Given the description of an element on the screen output the (x, y) to click on. 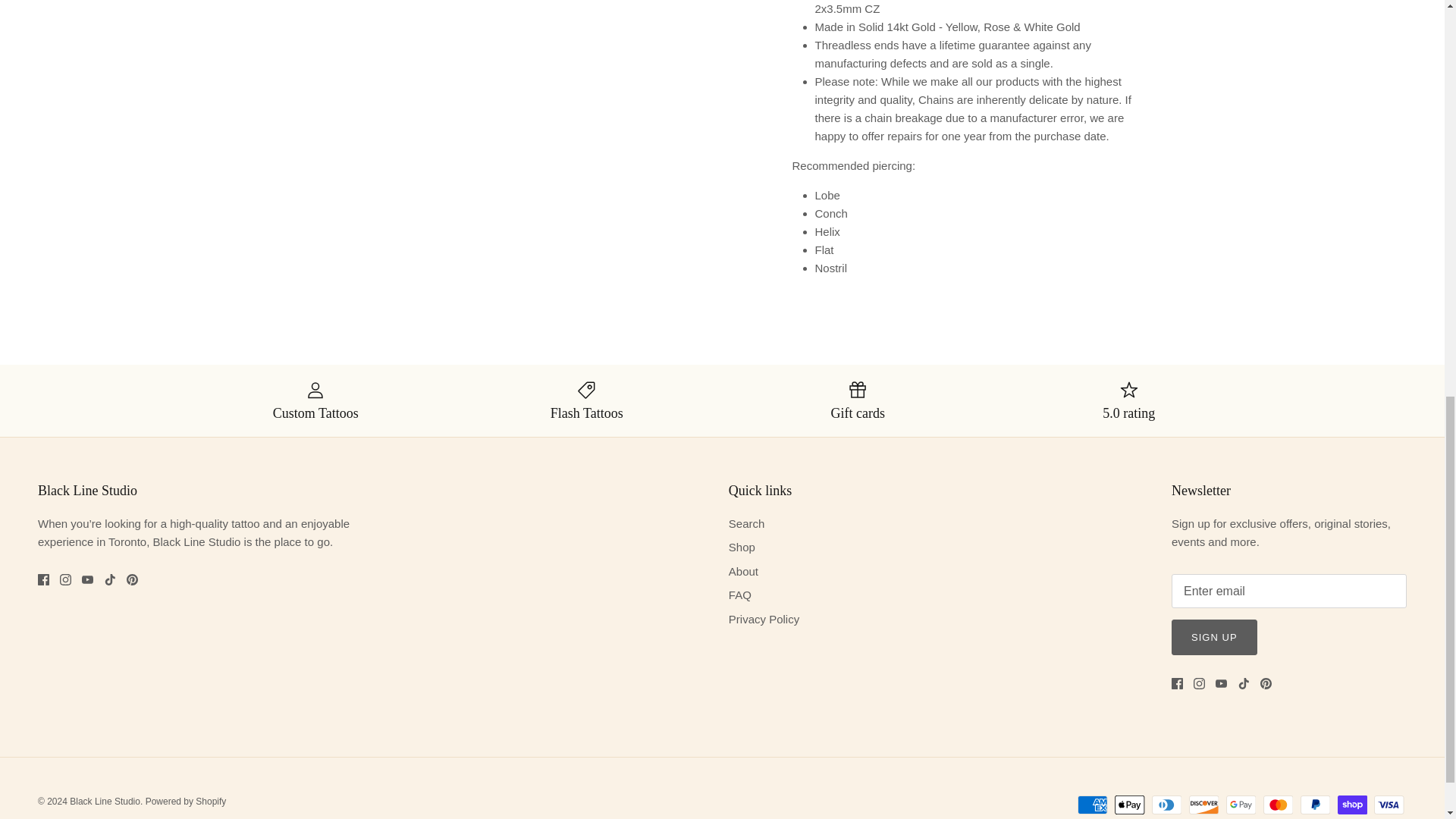
Facebook (43, 579)
Youtube (87, 579)
Facebook (1177, 683)
Instagram (65, 579)
Pinterest (132, 579)
